Given the description of an element on the screen output the (x, y) to click on. 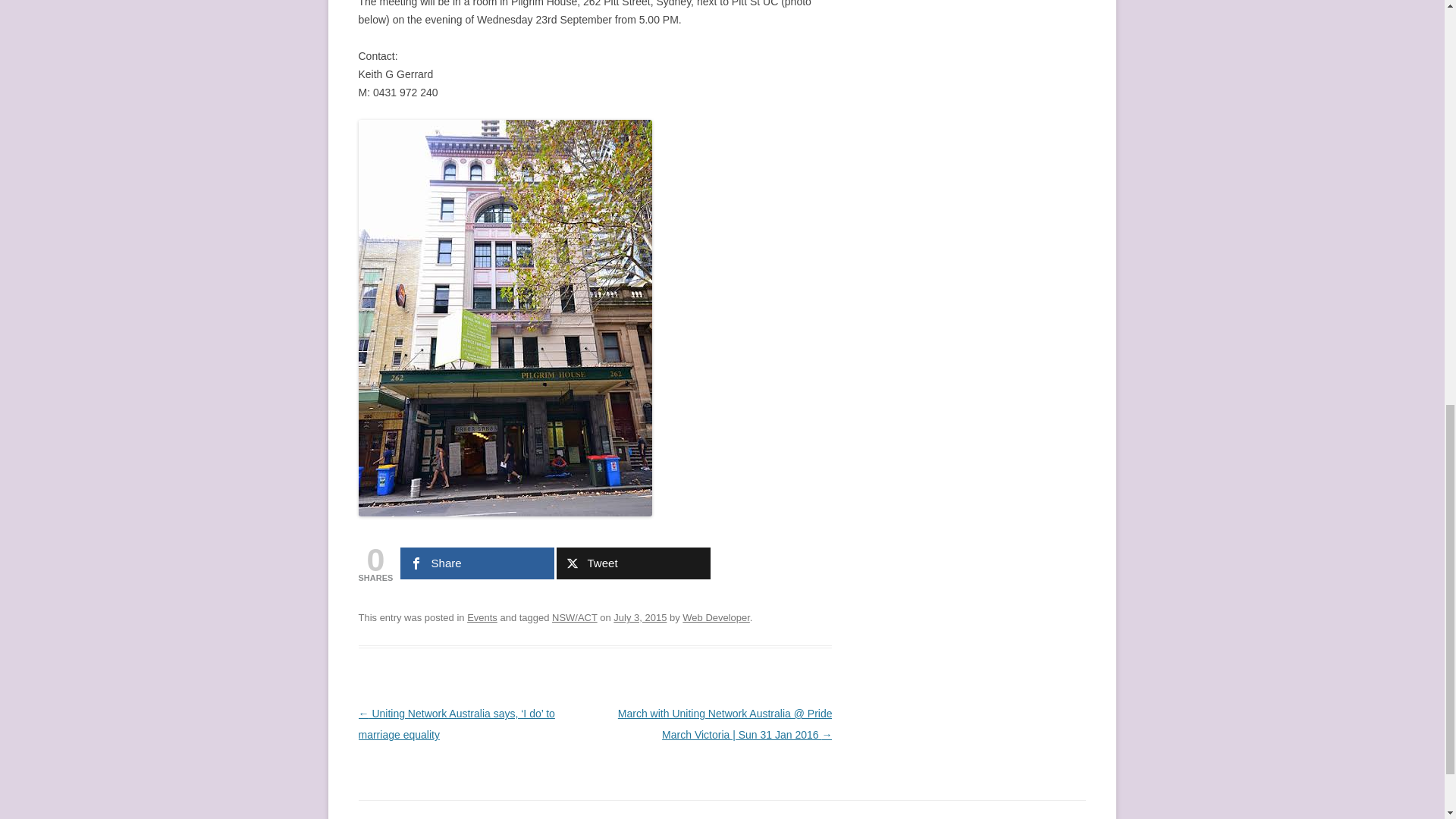
10:27 pm (639, 617)
Events (482, 617)
View all posts by Web Developer (715, 617)
Tweet (633, 563)
Web Developer (715, 617)
Share (477, 563)
July 3, 2015 (639, 617)
